Given the description of an element on the screen output the (x, y) to click on. 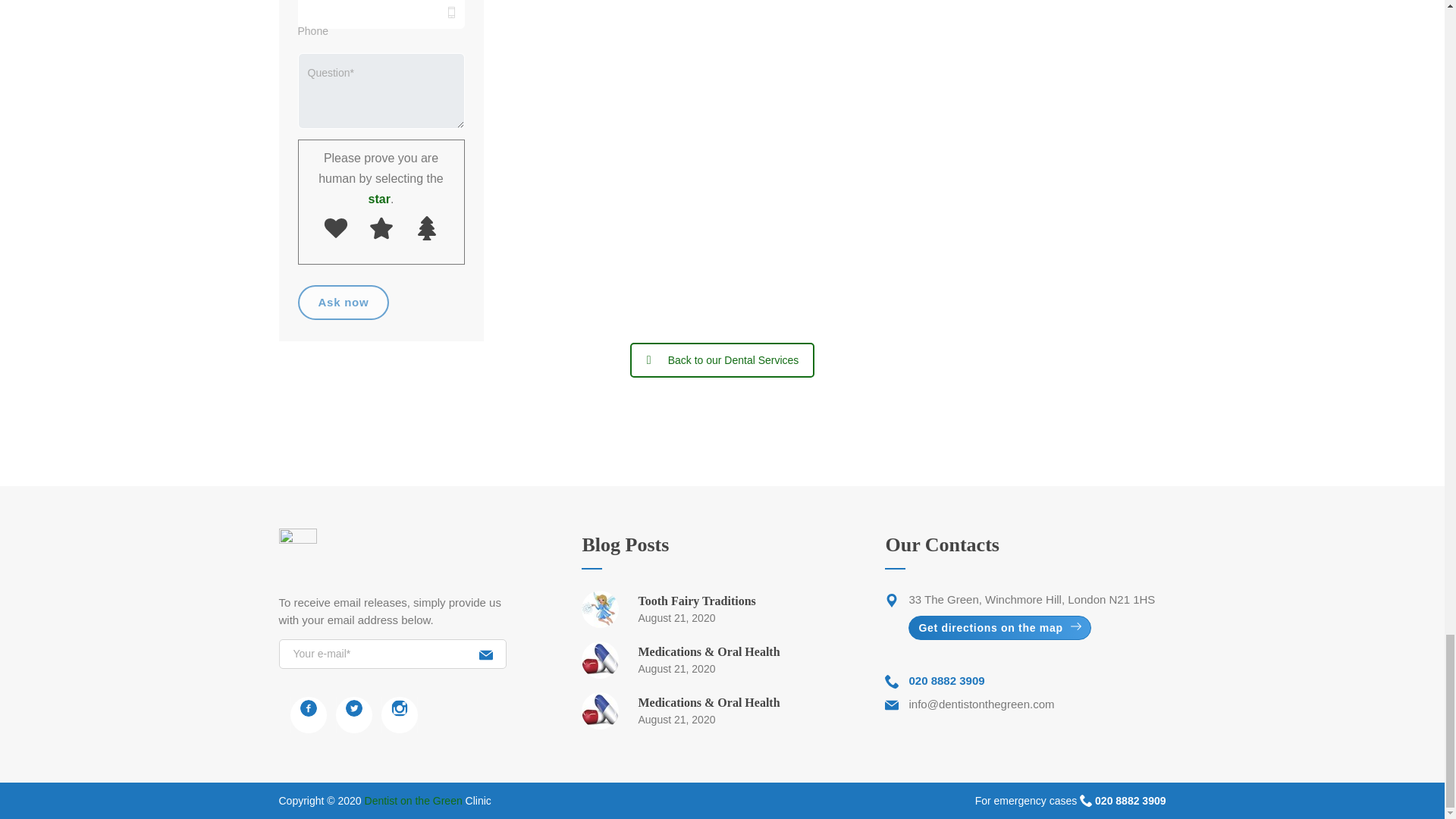
Send (486, 652)
Our Dental Services (722, 360)
!Theme Footer Logo (298, 551)
Dentist on the Green (428, 800)
Ask now (342, 302)
